Given the description of an element on the screen output the (x, y) to click on. 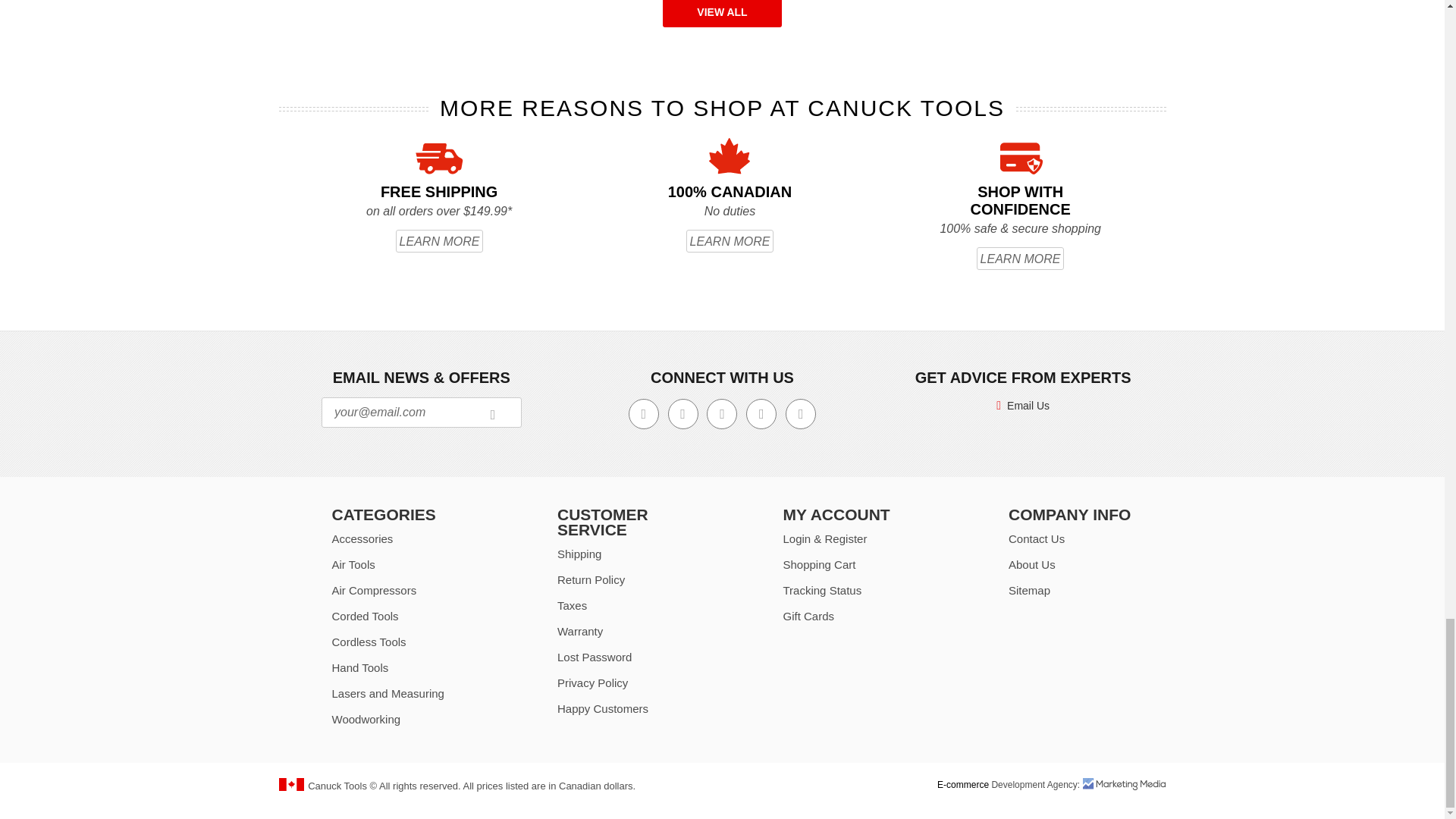
Pinterest (800, 413)
Twitter (683, 413)
Facebook (643, 413)
YouTube (721, 413)
Instagram (760, 413)
